Given the description of an element on the screen output the (x, y) to click on. 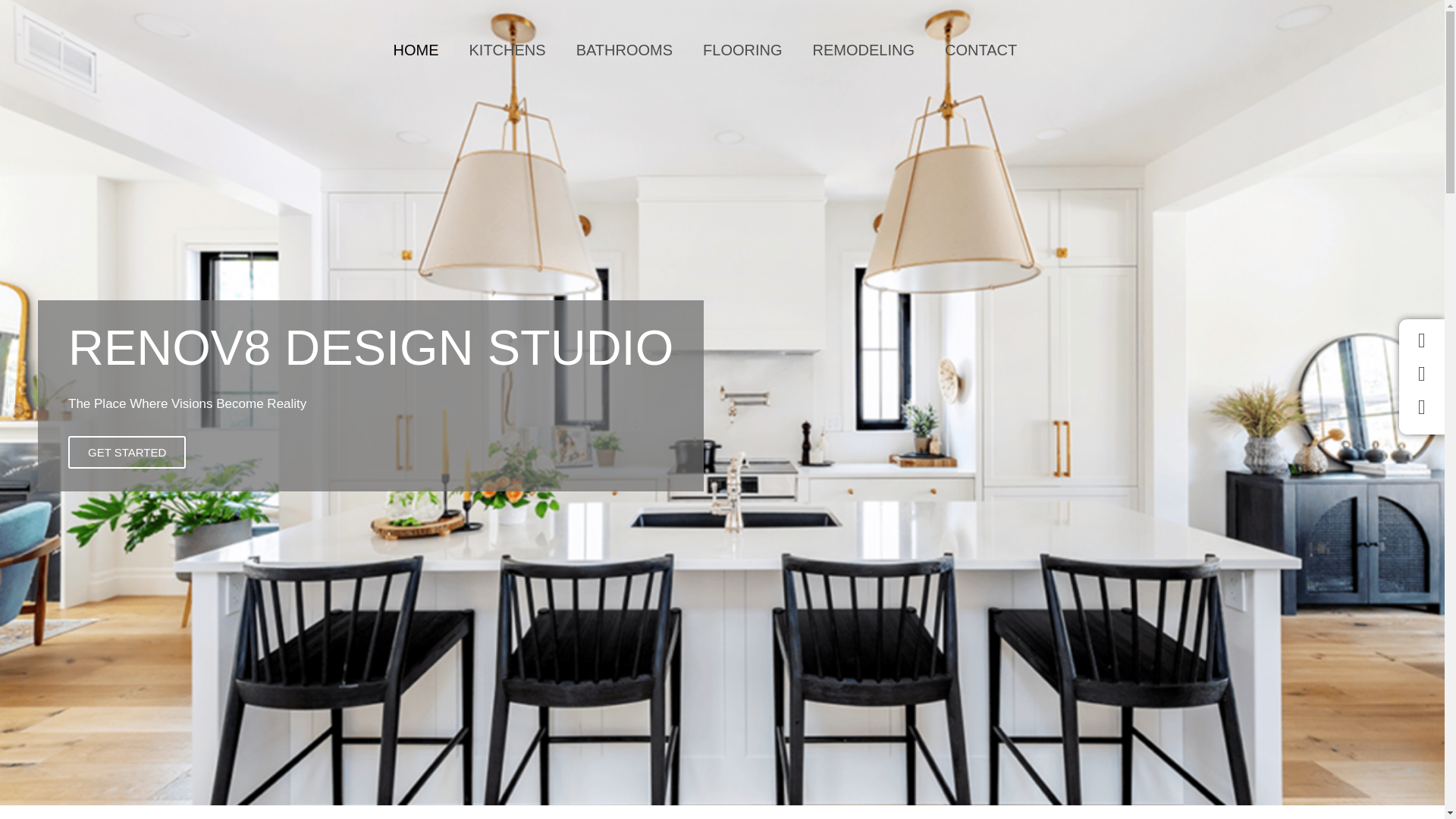
CONTACT (981, 49)
BATHROOMS (623, 49)
REMODELING (863, 49)
START A PROJECT (1178, 49)
HOME (414, 49)
FLOORING (741, 49)
KITCHENS (506, 49)
